Given the description of an element on the screen output the (x, y) to click on. 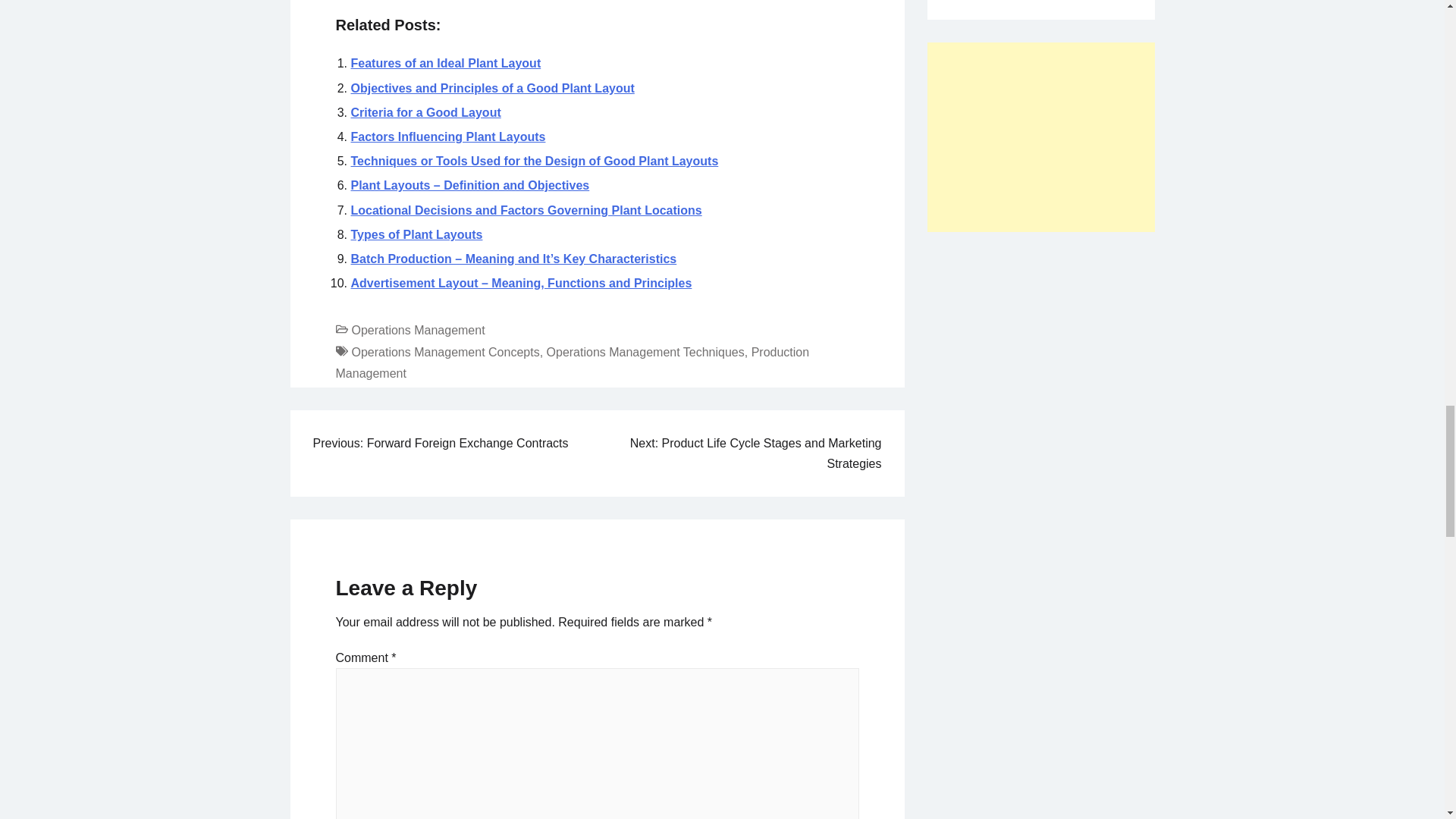
Production Management (571, 362)
Objectives and Principles of a Good Plant Layout (491, 88)
Objectives and Principles of a Good Plant Layout (491, 88)
Operations Management Techniques (645, 351)
Operations Management Concepts (446, 351)
Factors Influencing Plant Layouts (447, 136)
Features of an Ideal Plant Layout (445, 62)
Next: Product Life Cycle Stages and Marketing Strategies (756, 453)
Advertisement (1040, 136)
